Given the description of an element on the screen output the (x, y) to click on. 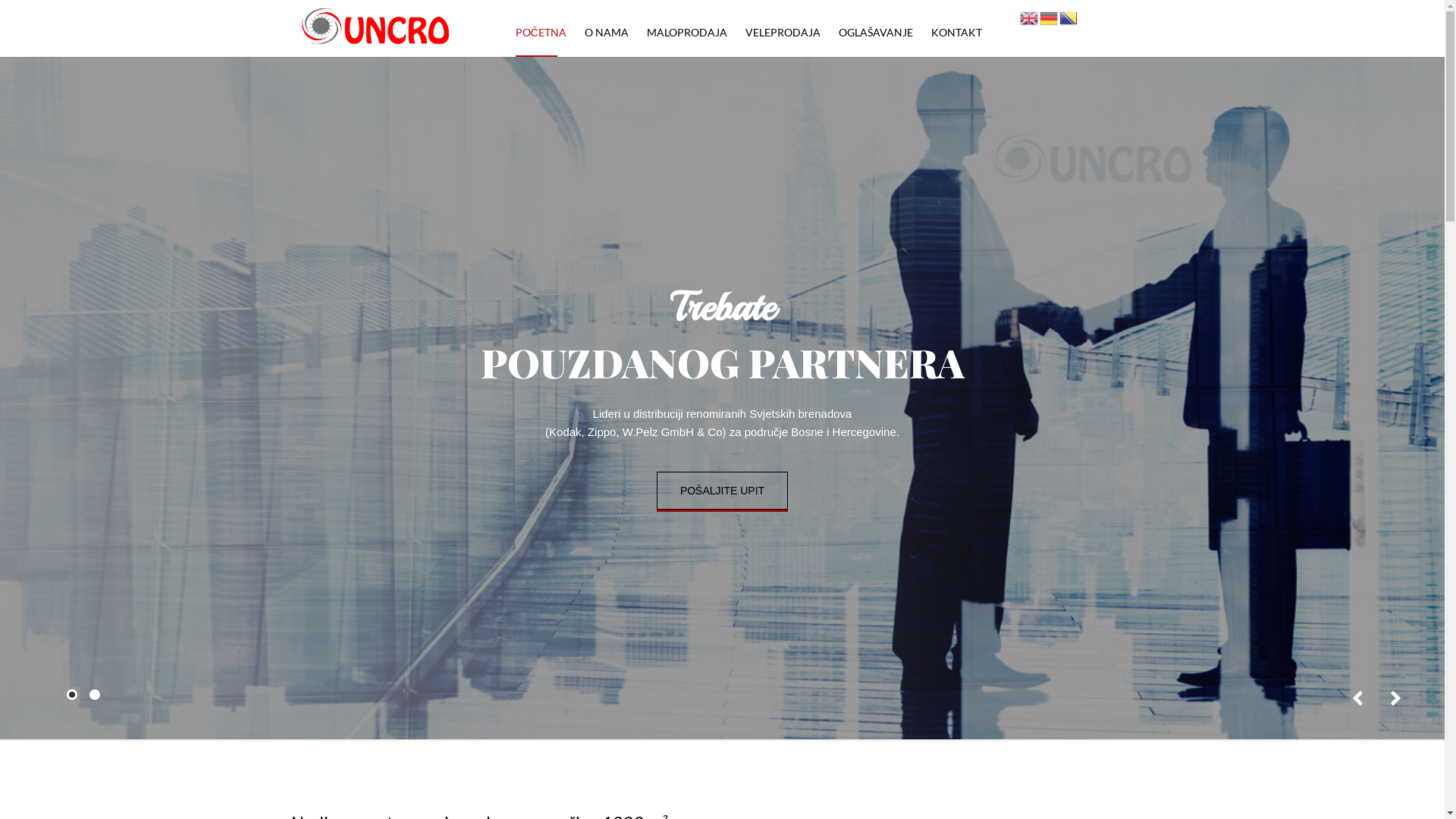
VELEPRODAJA Element type: text (782, 31)
Bosnian Element type: hover (1068, 16)
English Element type: hover (1028, 16)
German Element type: hover (1048, 16)
O NAMA Element type: text (606, 31)
KONTAKT Element type: text (956, 31)
MALOPRODAJA Element type: text (686, 31)
